Given the description of an element on the screen output the (x, y) to click on. 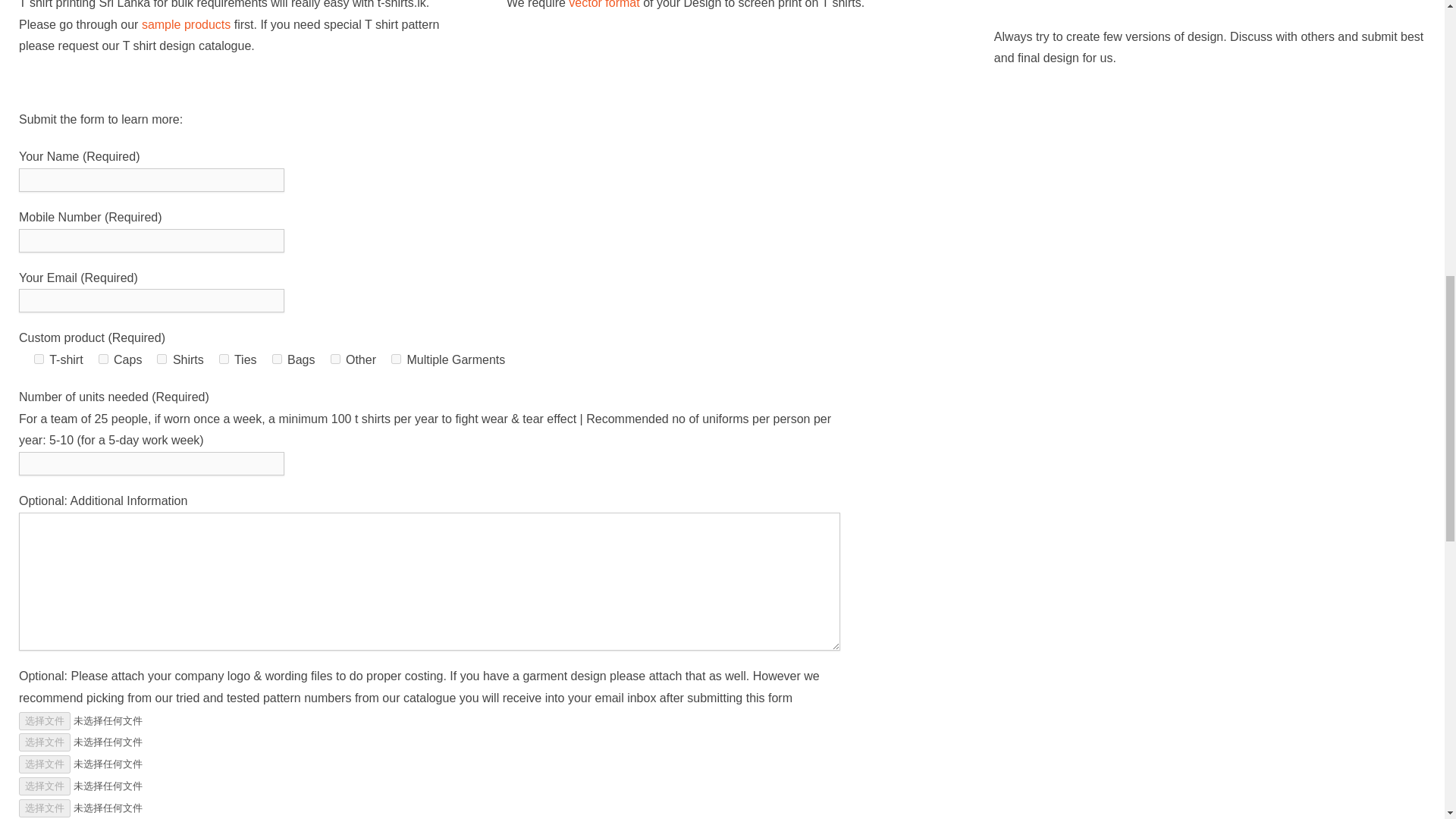
T-shirt (38, 358)
vector format (604, 4)
Shirts (162, 358)
Multiple Garments (396, 358)
sample products (185, 24)
Caps (103, 358)
Vector Art (604, 4)
Ties (223, 358)
Other (335, 358)
Bags (277, 358)
